Given the description of an element on the screen output the (x, y) to click on. 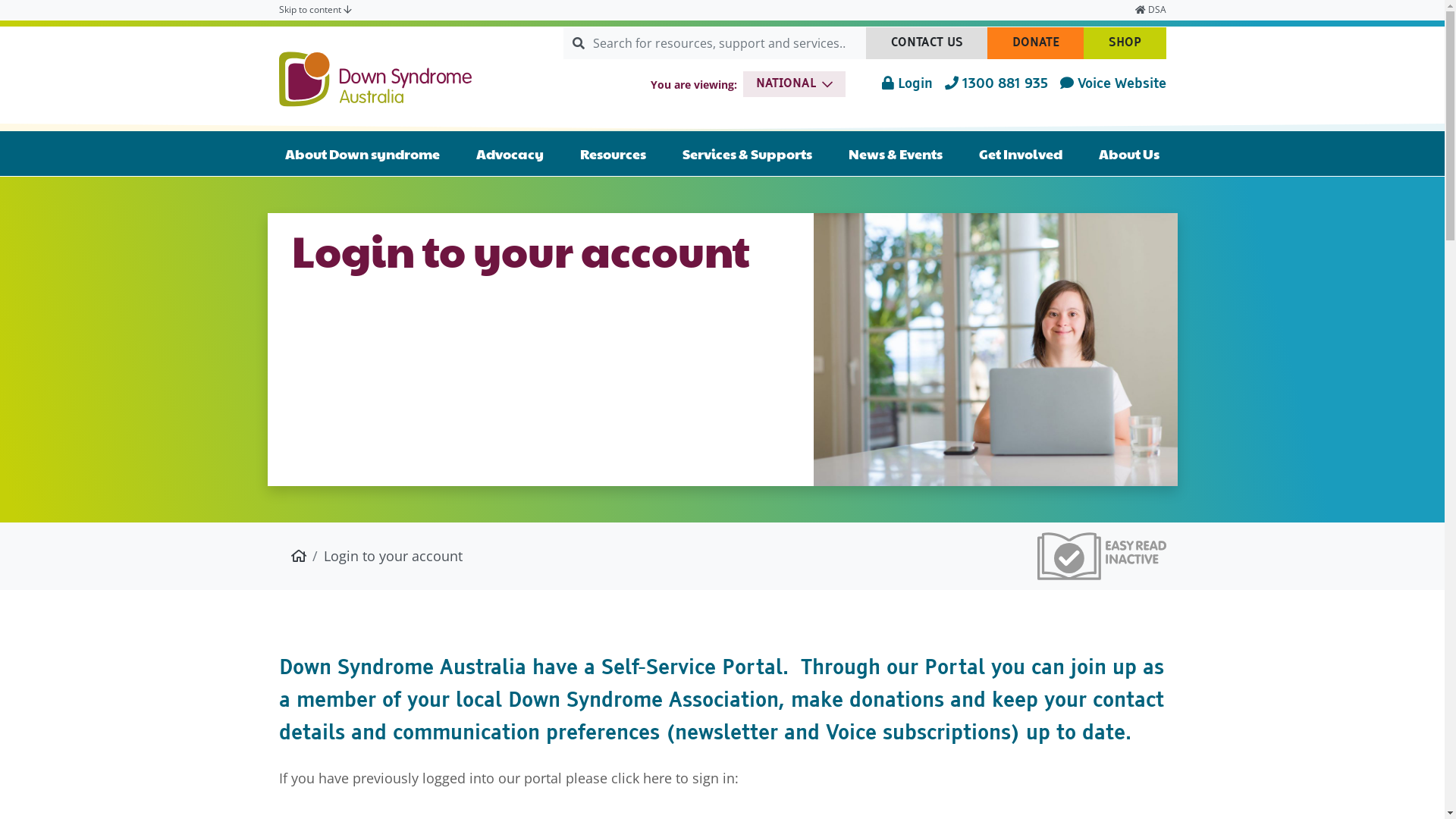
SEARCH Element type: text (562, 42)
About Down syndrome Element type: text (362, 153)
CONTACT US
(CURRENT) Element type: text (927, 43)
Voice Website Element type: text (1113, 84)
Skip to content Element type: text (315, 9)
NATIONAL Element type: text (794, 84)
DONATE
(CURRENT) Element type: text (1035, 43)
DSA Element type: text (1149, 9)
Search for: Element type: hover (729, 42)
Login Element type: text (906, 84)
Advocacy Element type: text (509, 153)
1300 881 935 Element type: text (996, 84)
Resources Element type: text (613, 153)
Services & Supports Element type: text (747, 153)
About Us Element type: text (1128, 153)
News & Events Element type: text (895, 153)
Down Syndrome Australia Element type: text (375, 79)
SHOP
(CURRENT) Element type: text (1123, 43)
Get Involved Element type: text (1020, 153)
